Given the description of an element on the screen output the (x, y) to click on. 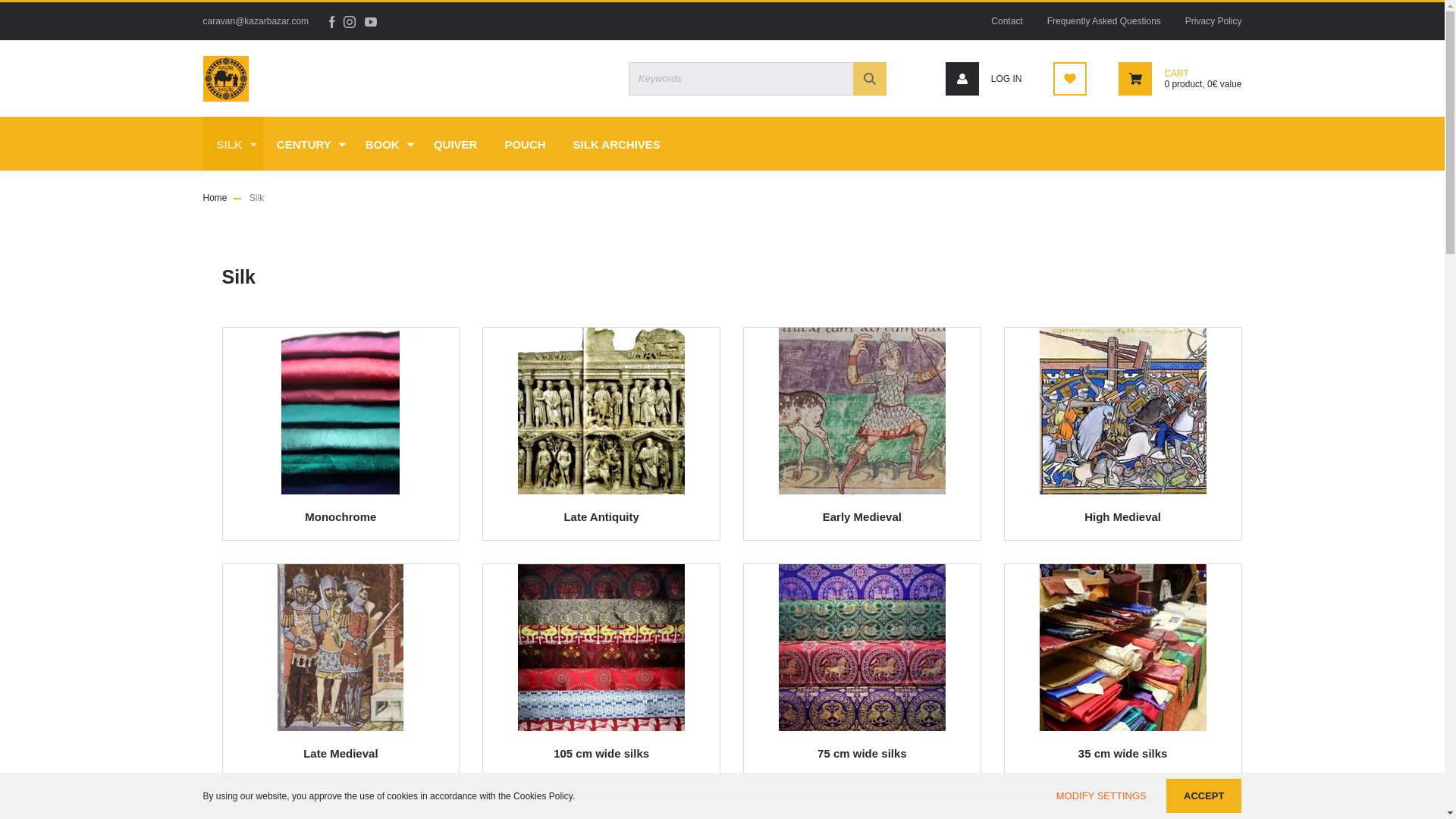
CENTURY (307, 143)
Late Antiquity (601, 410)
Privacy Policy (1207, 21)
BOOK (386, 143)
Contact (1005, 21)
Frequently Asked Questions (1104, 21)
Late Medieval (340, 647)
35 cm wide silks (1123, 647)
High Medieval (1123, 410)
Privacy Policy (1207, 21)
Early Medieval (861, 410)
LOG IN (983, 78)
105 cm wide silks (601, 647)
Monochrome (340, 410)
Frequently Asked Questions (1104, 21)
